Given the description of an element on the screen output the (x, y) to click on. 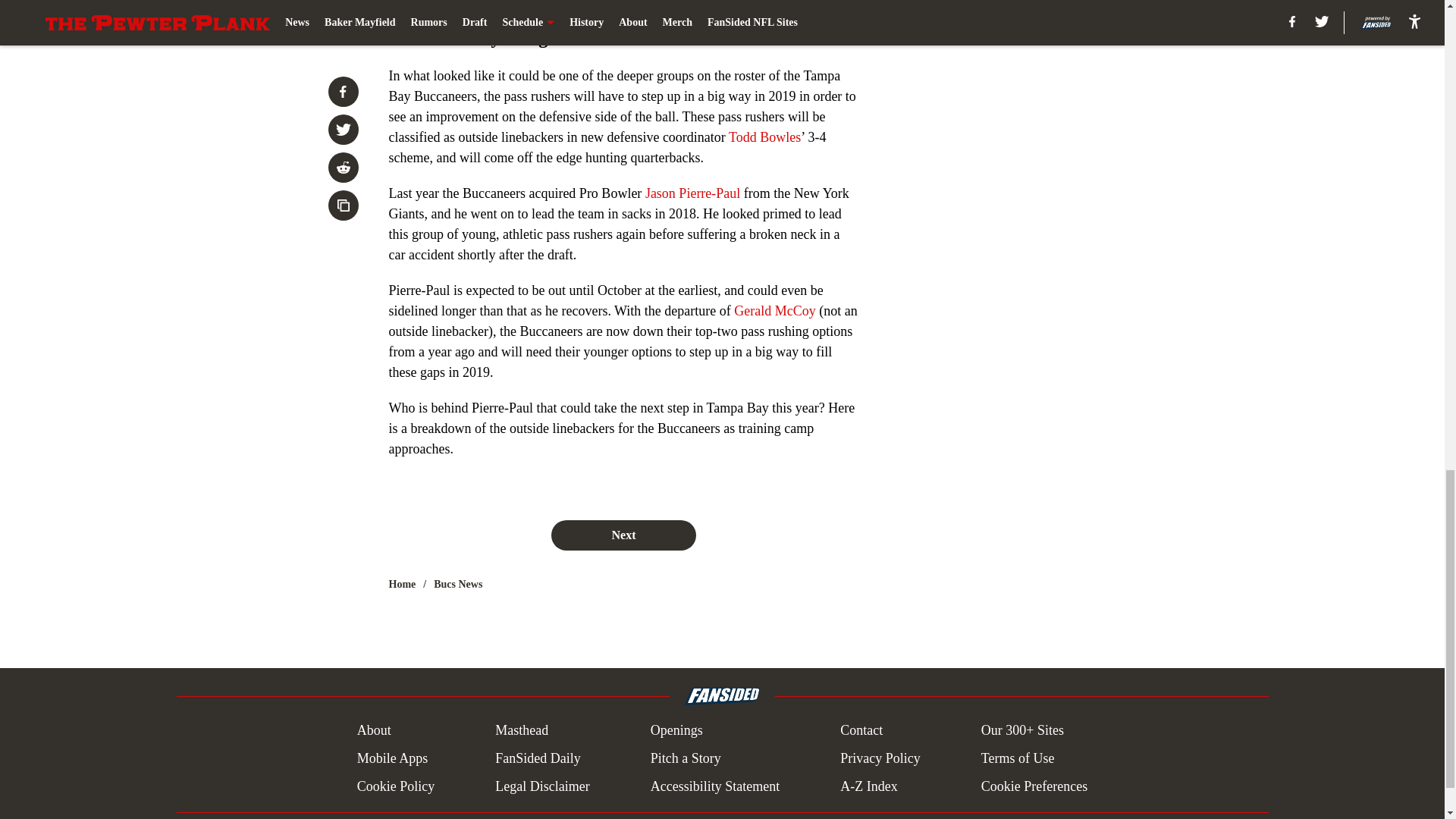
Contact (861, 730)
Next (622, 535)
Gerald McCoy (774, 310)
Pitch a Story (685, 758)
Jason Pierre-Paul (692, 192)
Masthead (521, 730)
Mobile Apps (392, 758)
Openings (676, 730)
Privacy Policy (880, 758)
FanSided Daily (537, 758)
